Given the description of an element on the screen output the (x, y) to click on. 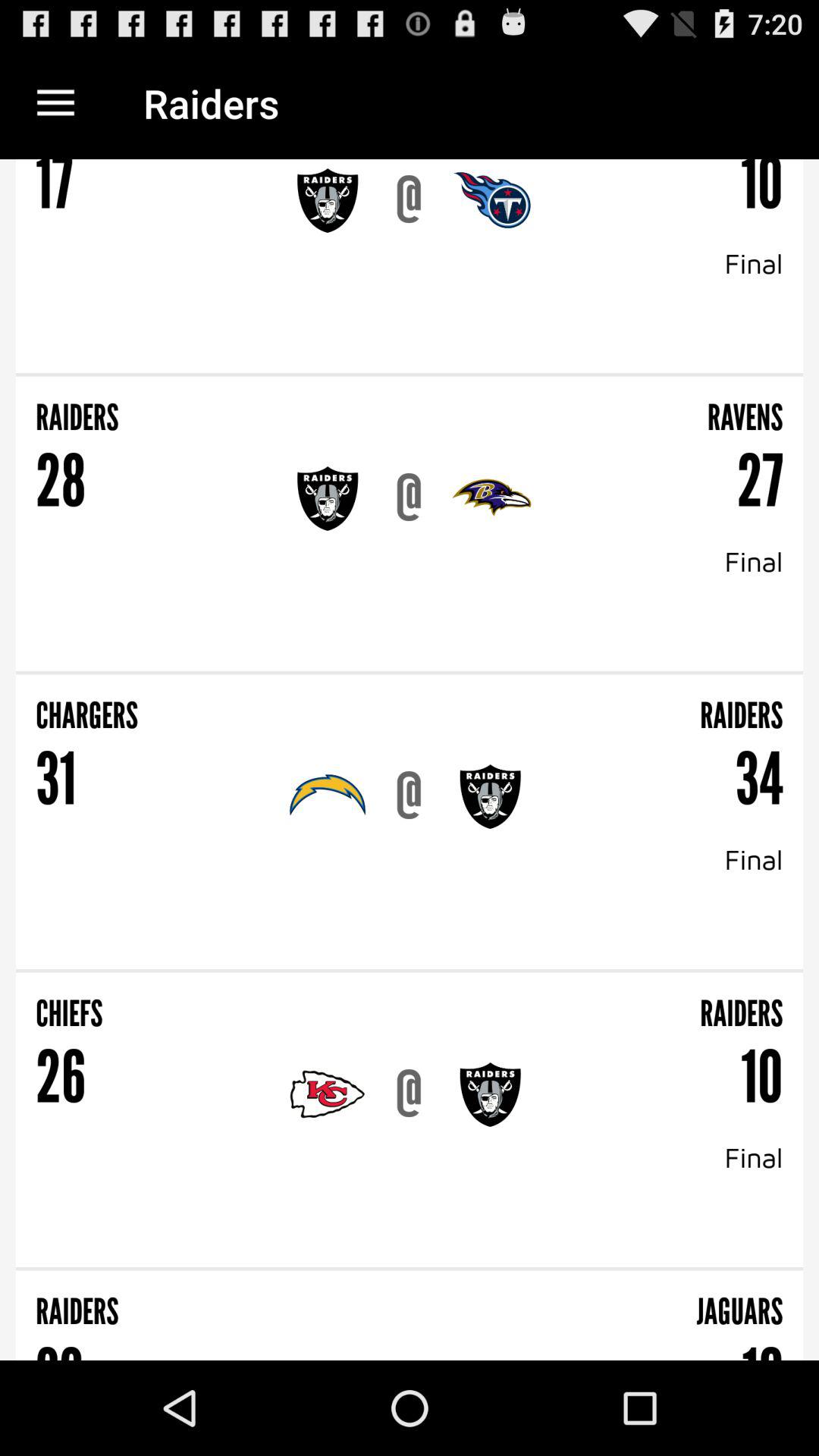
turn off the 28 icon (60, 481)
